Given the description of an element on the screen output the (x, y) to click on. 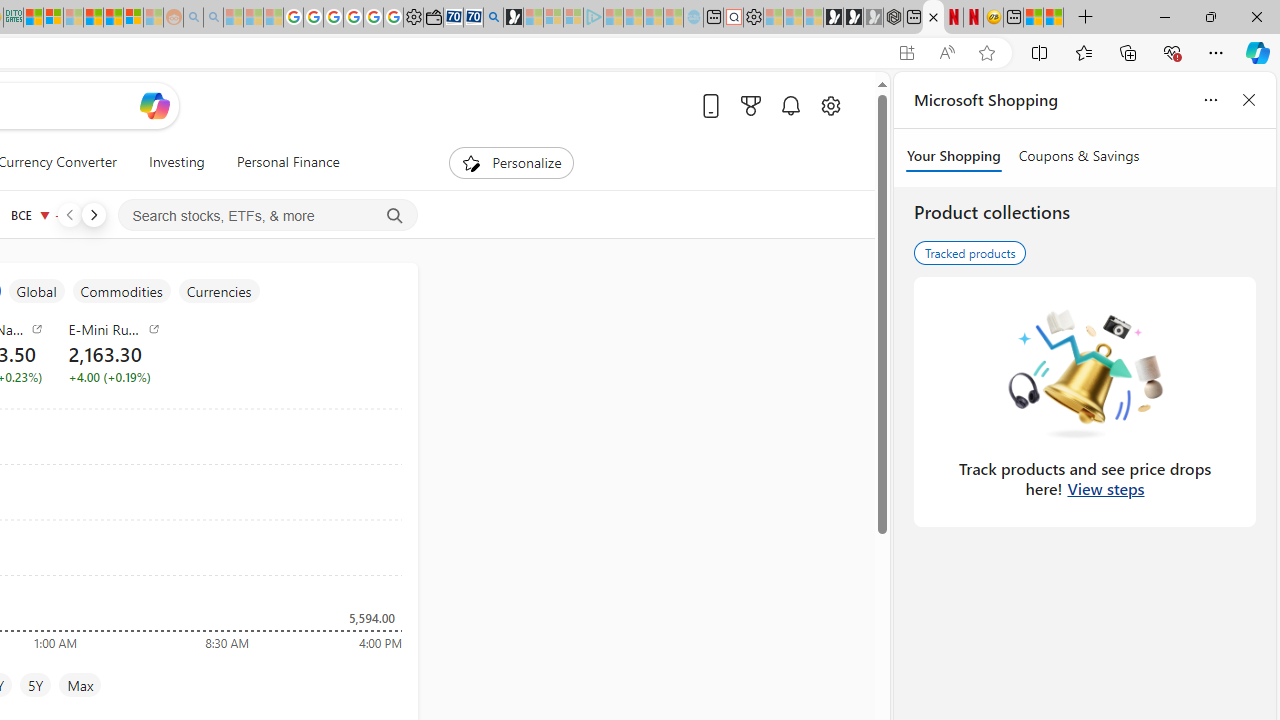
Kinda Frugal - MSN (112, 17)
